Given the description of an element on the screen output the (x, y) to click on. 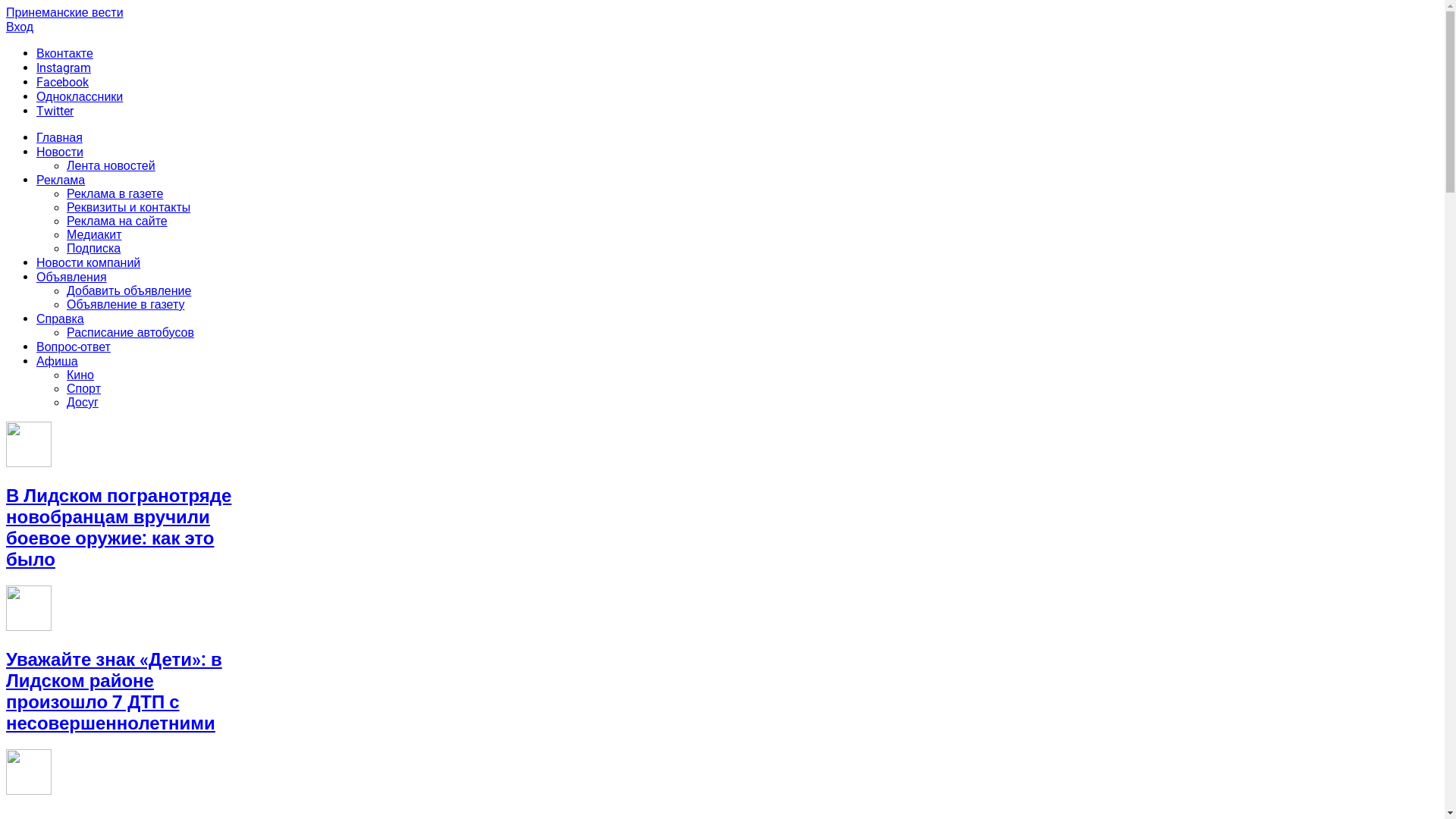
Facebook Element type: text (62, 82)
Twitter Element type: text (54, 110)
Instagram Element type: text (63, 67)
